Given the description of an element on the screen output the (x, y) to click on. 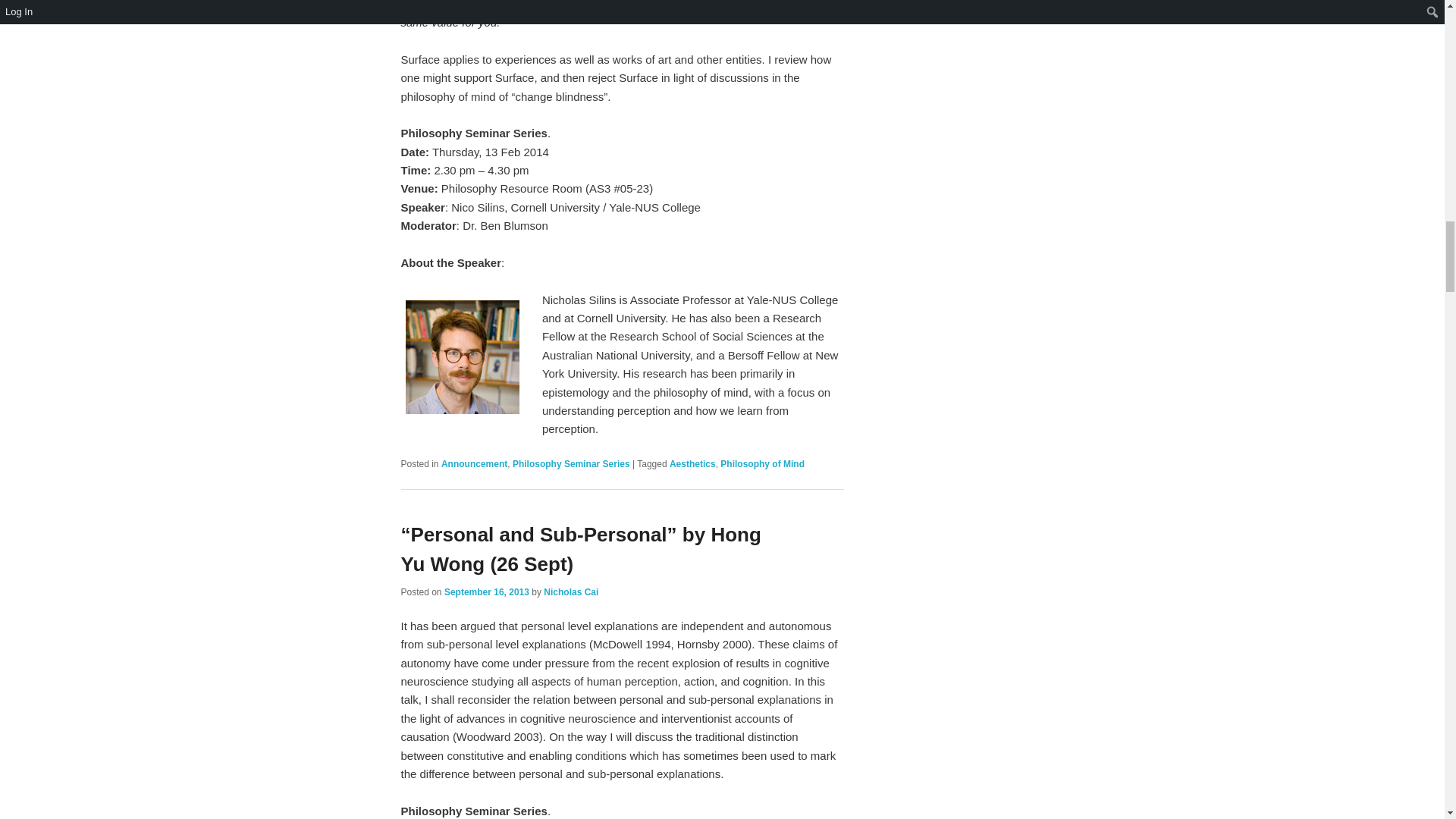
View all posts by Nicholas Cai (570, 592)
1:33 am (486, 592)
